Given the description of an element on the screen output the (x, y) to click on. 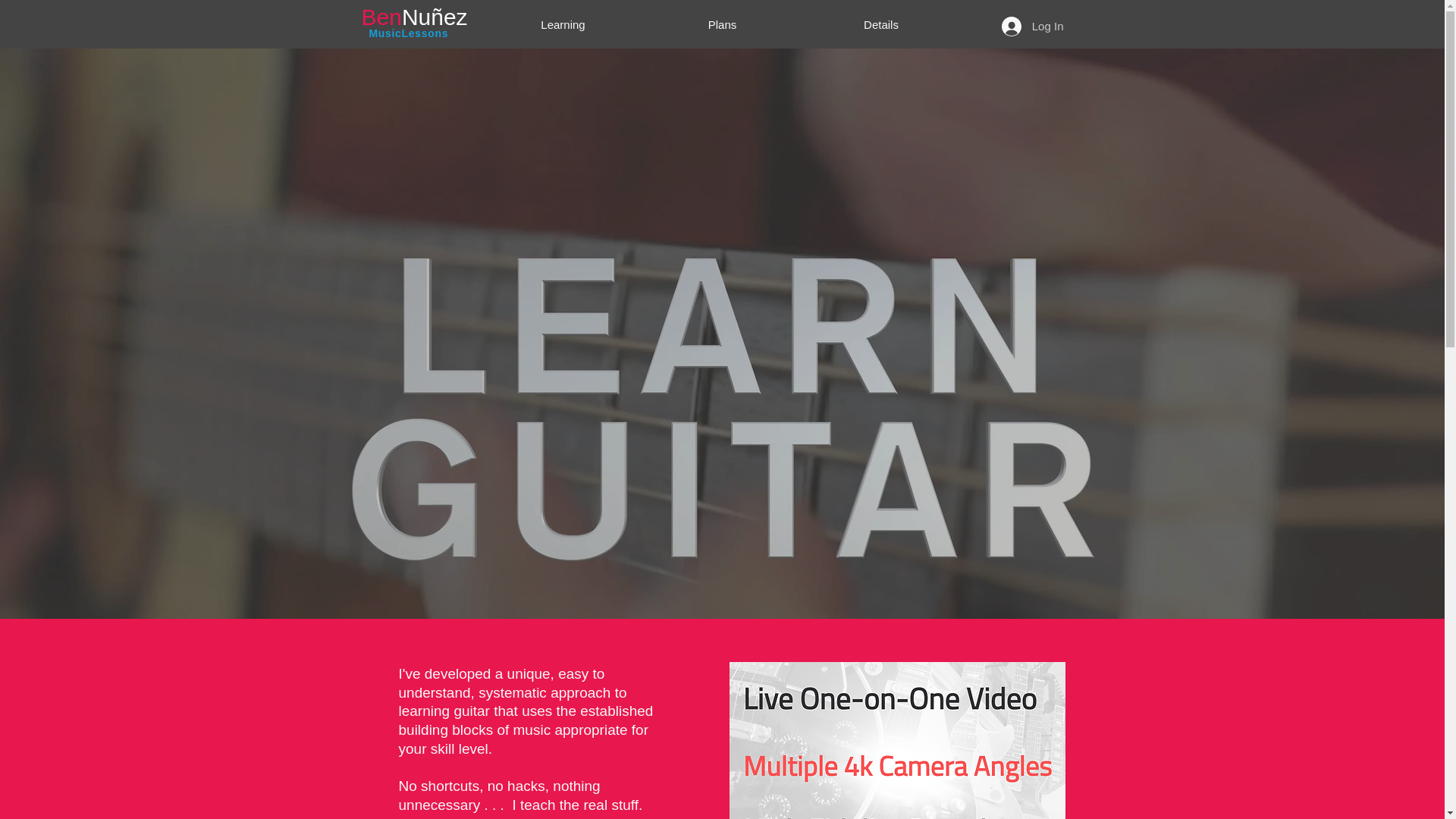
Learning (563, 24)
Log In (1032, 26)
Details (881, 24)
Plans (722, 24)
Ben (381, 16)
